Given the description of an element on the screen output the (x, y) to click on. 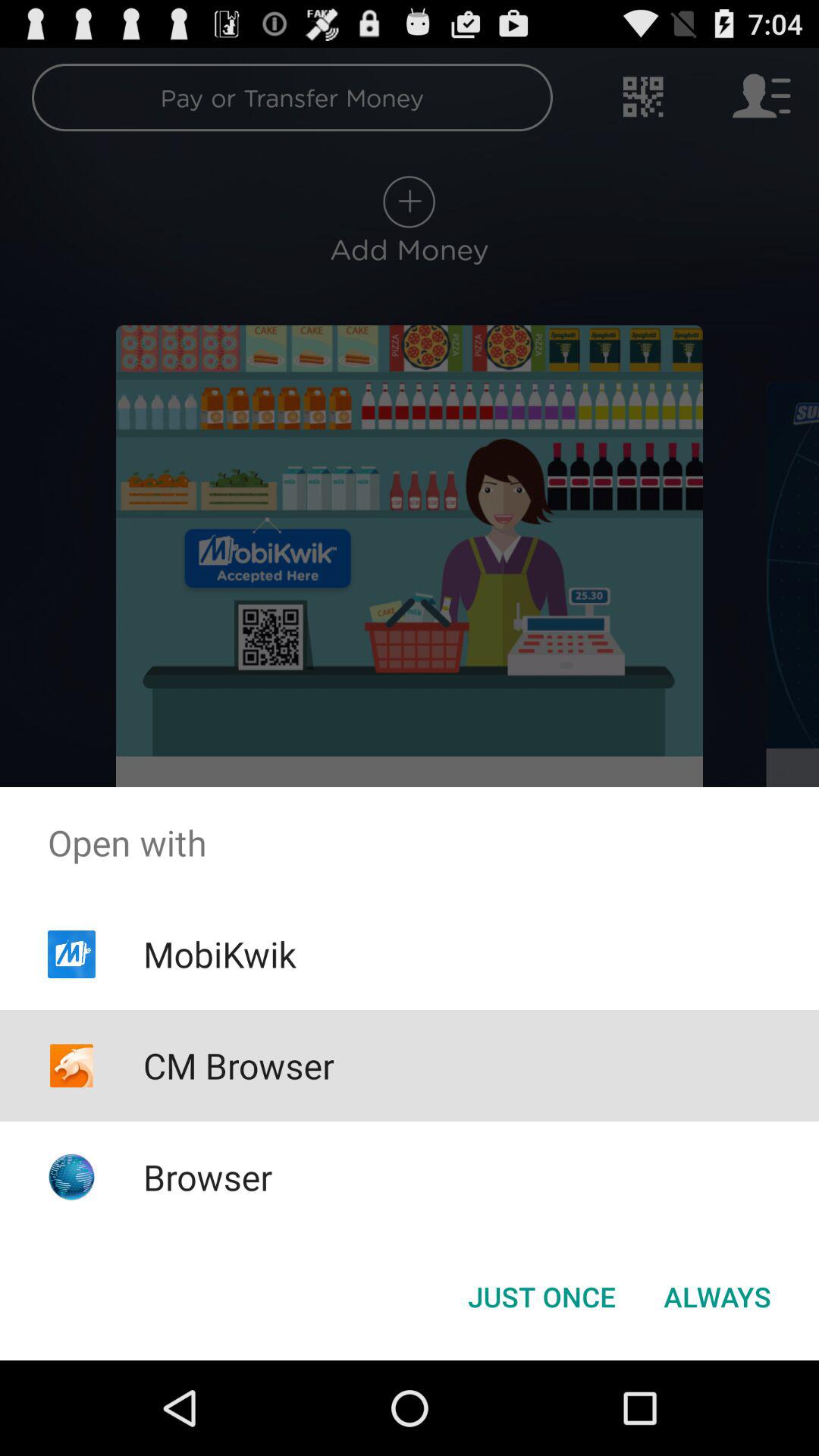
flip to the cm browser icon (238, 1065)
